Given the description of an element on the screen output the (x, y) to click on. 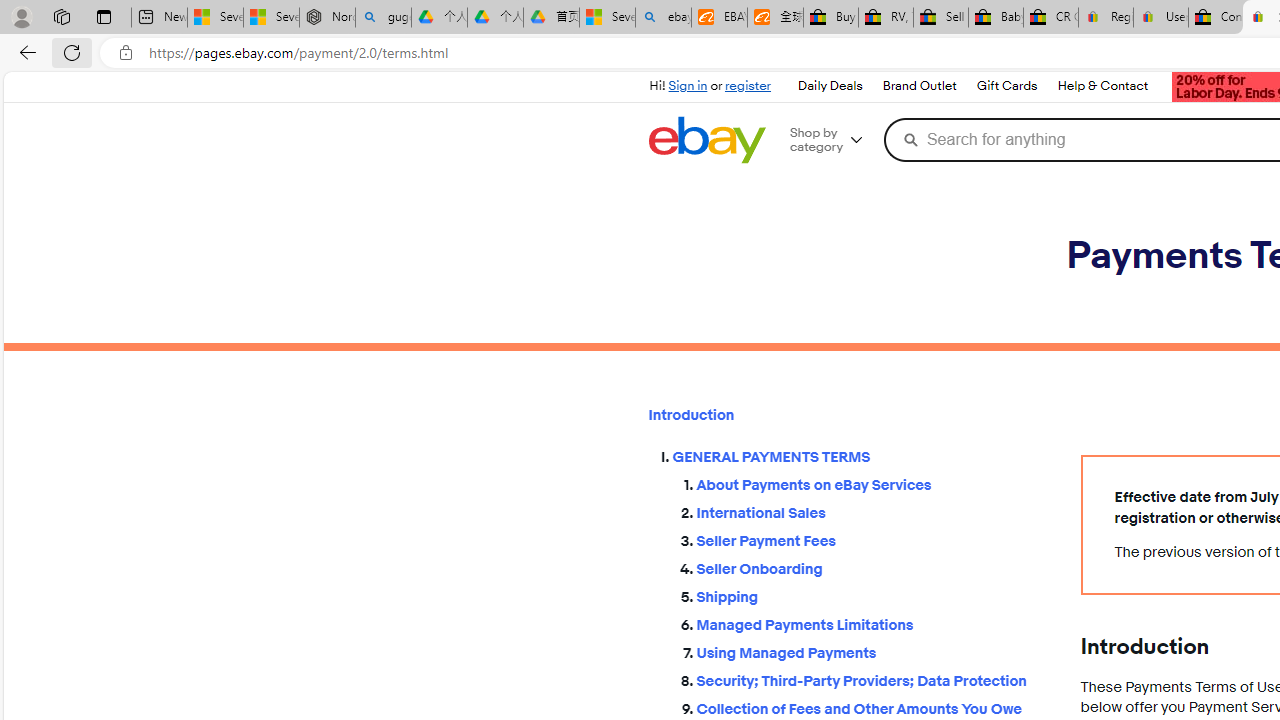
GENERAL PAYMENTS TERMS (860, 457)
Consumer Health Data Privacy Policy - eBay Inc. (1215, 17)
Seller Onboarding (872, 565)
User Privacy Notice | eBay (1160, 17)
Shop by category (833, 140)
Seller Onboarding (872, 569)
Gift Cards (1006, 86)
International Sales (872, 509)
Sign in (687, 85)
register (747, 85)
Brand Outlet (919, 86)
guge yunpan - Search (382, 17)
